Given the description of an element on the screen output the (x, y) to click on. 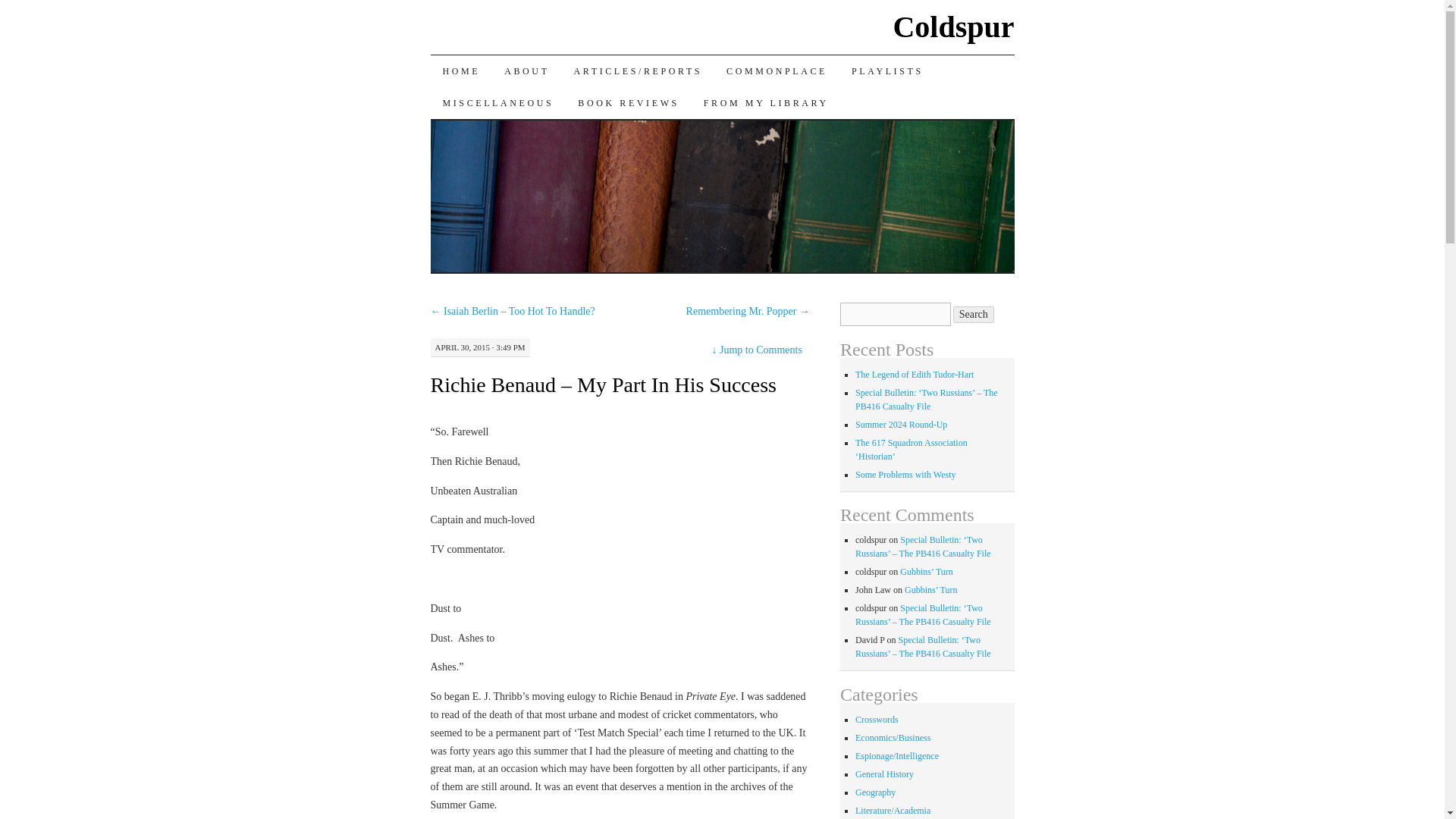
BOOK REVIEWS (628, 102)
HOME (461, 70)
Crosswords (877, 719)
Coldspur (952, 26)
Search (973, 314)
Search (973, 314)
MISCELLANEOUS (498, 102)
PLAYLISTS (888, 70)
FROM MY LIBRARY (766, 102)
The Legend of Edith Tudor-Hart (915, 374)
